Given the description of an element on the screen output the (x, y) to click on. 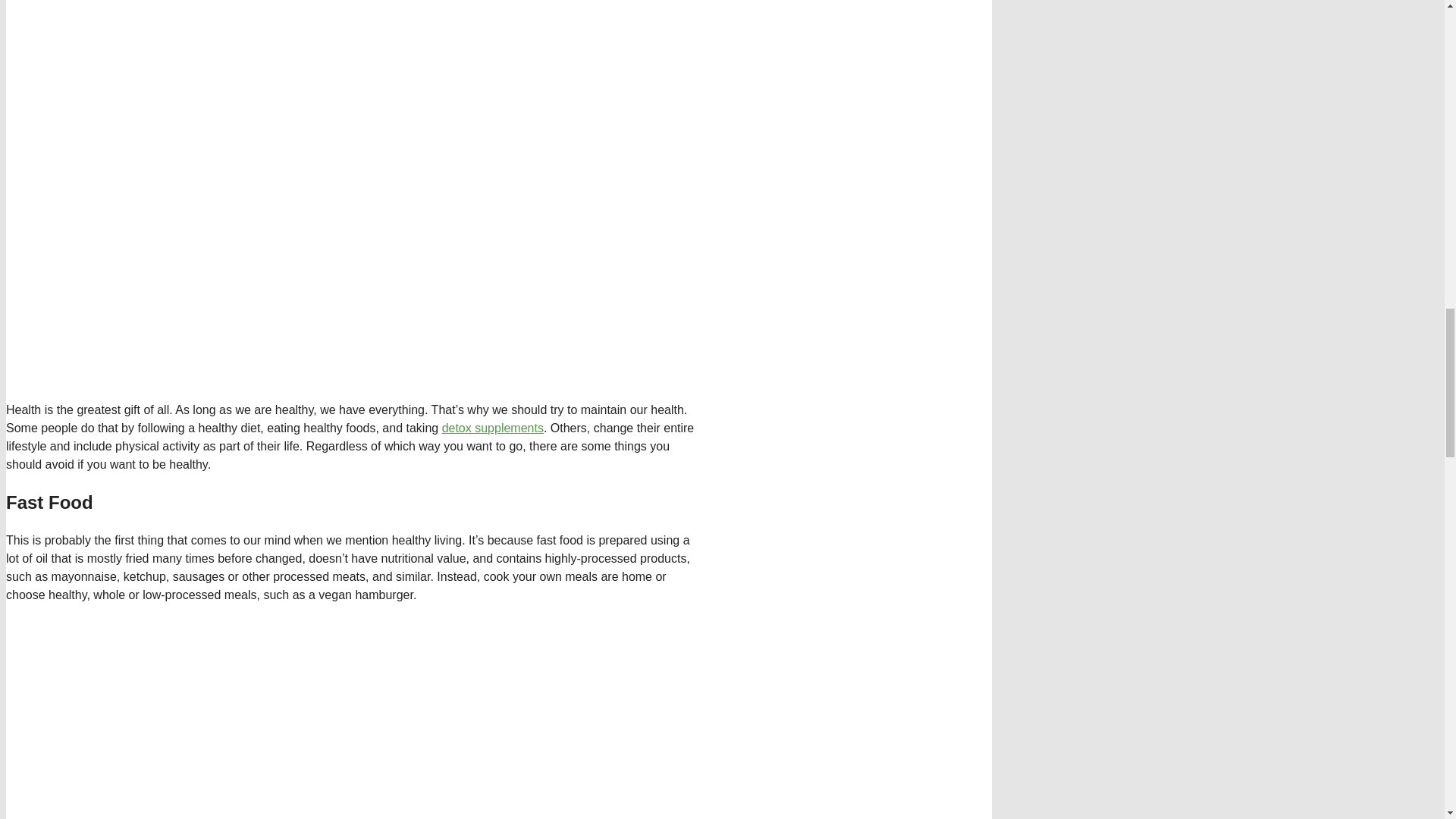
detox supplements (492, 427)
